Given the description of an element on the screen output the (x, y) to click on. 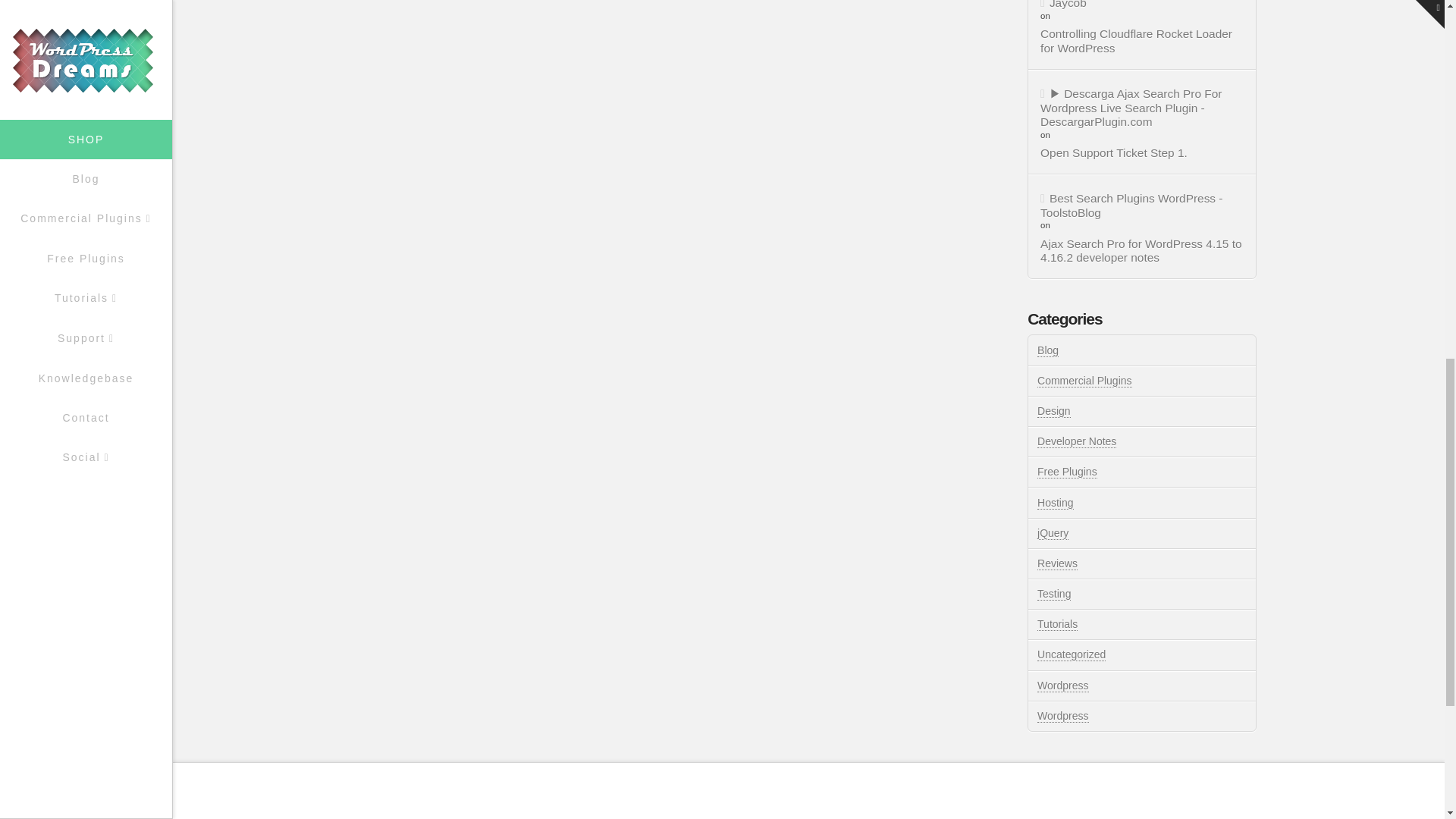
jQuery tutorials (1052, 533)
WordPress Tutorials (1061, 716)
